Given the description of an element on the screen output the (x, y) to click on. 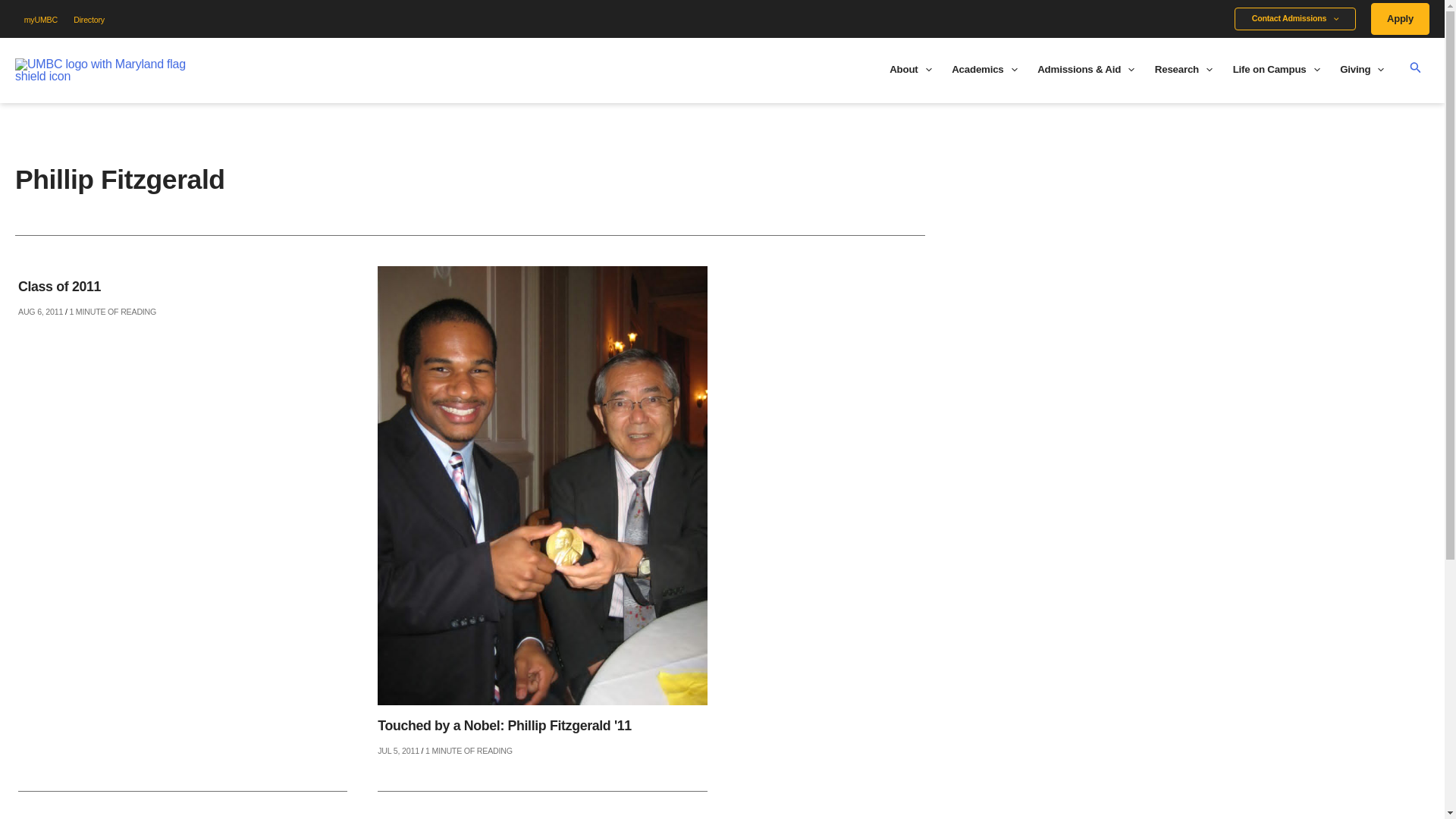
Research (1183, 69)
myUMBC (40, 19)
Contact Admissions (1294, 18)
About (910, 69)
Academics (984, 69)
Directory (89, 19)
Apply (1400, 19)
